Given the description of an element on the screen output the (x, y) to click on. 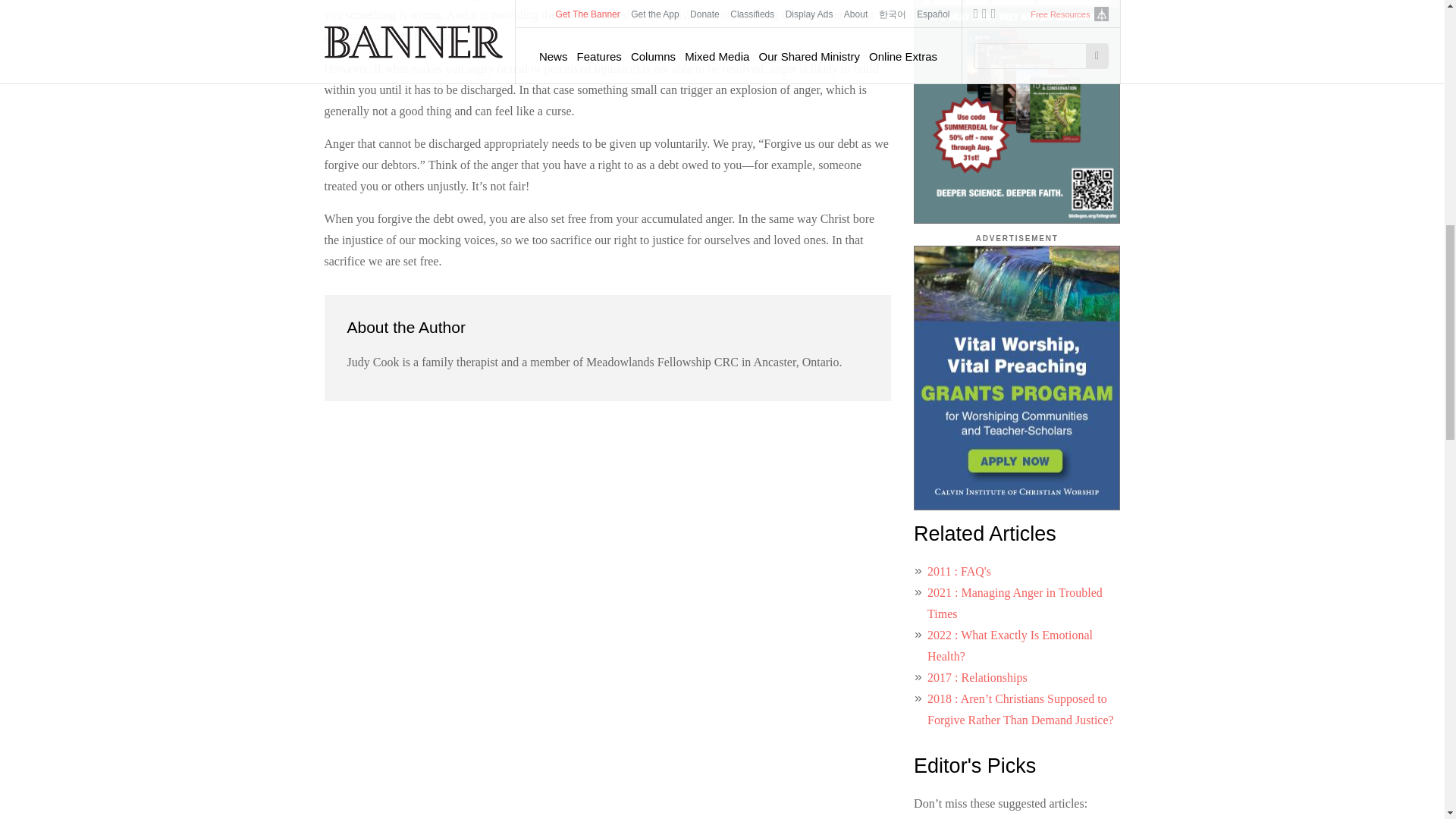
2011 : FAQ's (959, 571)
2017 : Relationships (977, 676)
2022 : What Exactly Is Emotional Health? (1010, 645)
2021 : Managing Anger in Troubled Times (1014, 602)
